Given the description of an element on the screen output the (x, y) to click on. 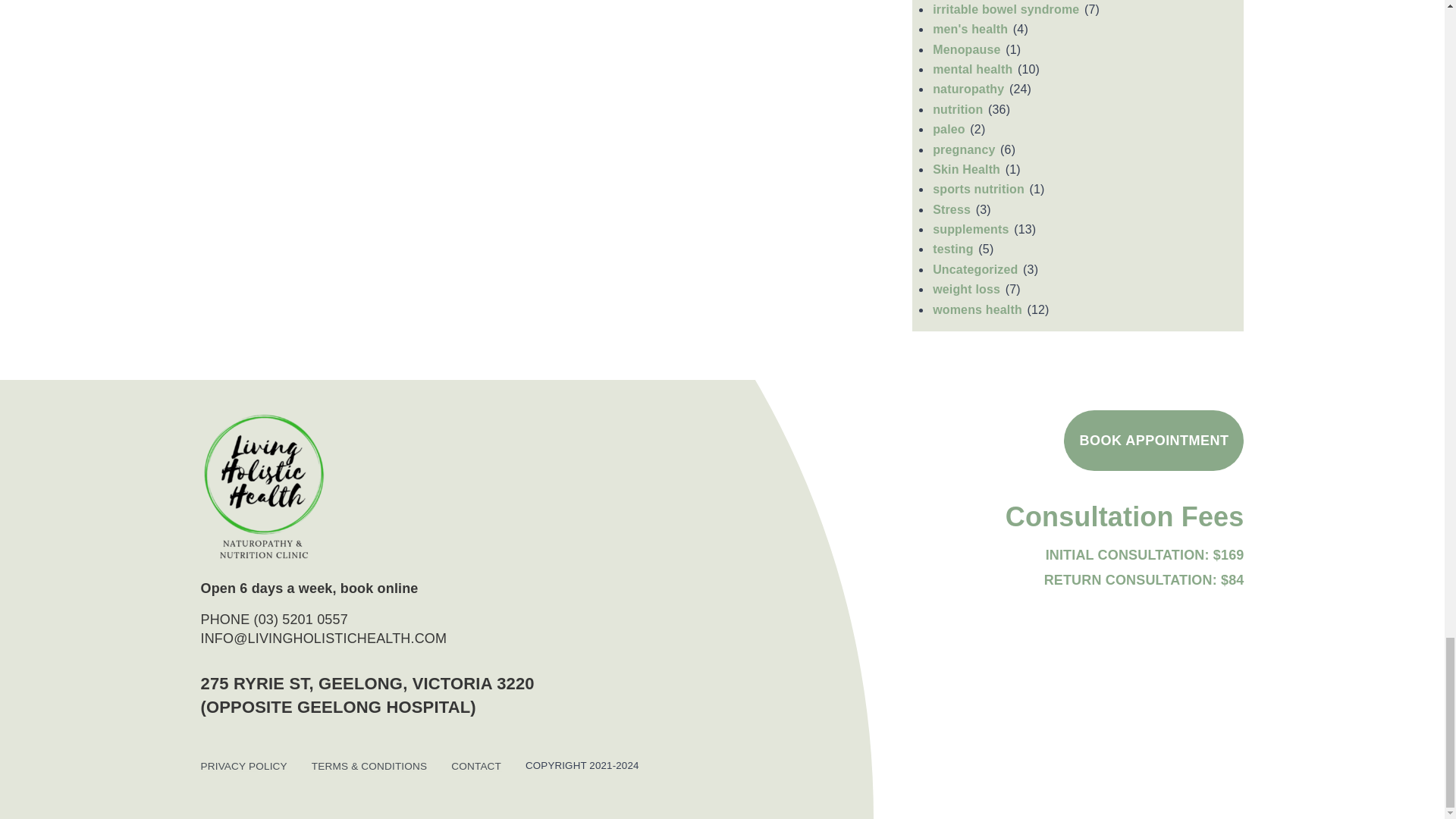
Instagram (1213, 704)
Facebook (1229, 702)
